Given the description of an element on the screen output the (x, y) to click on. 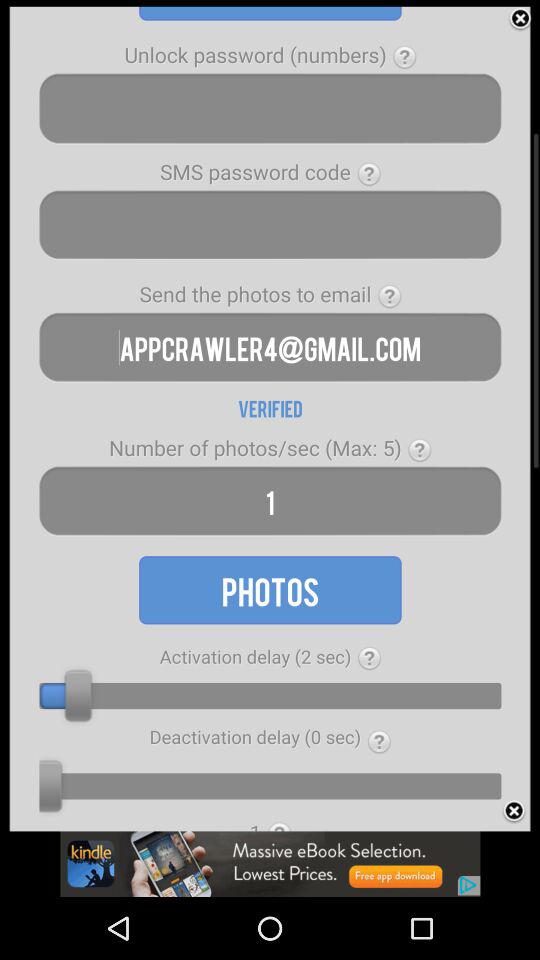
see more information (369, 658)
